Given the description of an element on the screen output the (x, y) to click on. 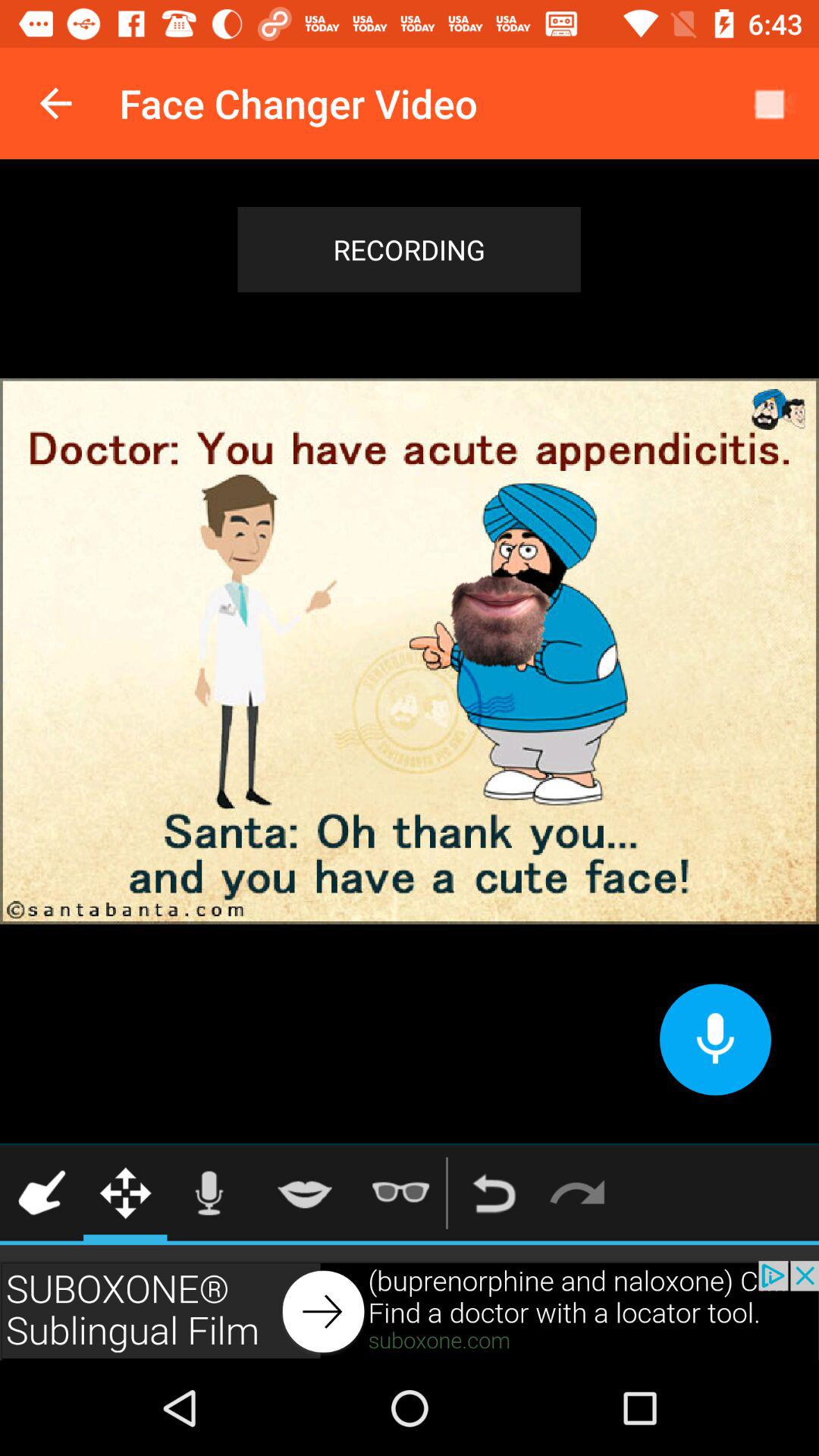
select the advertisement (409, 1310)
